Given the description of an element on the screen output the (x, y) to click on. 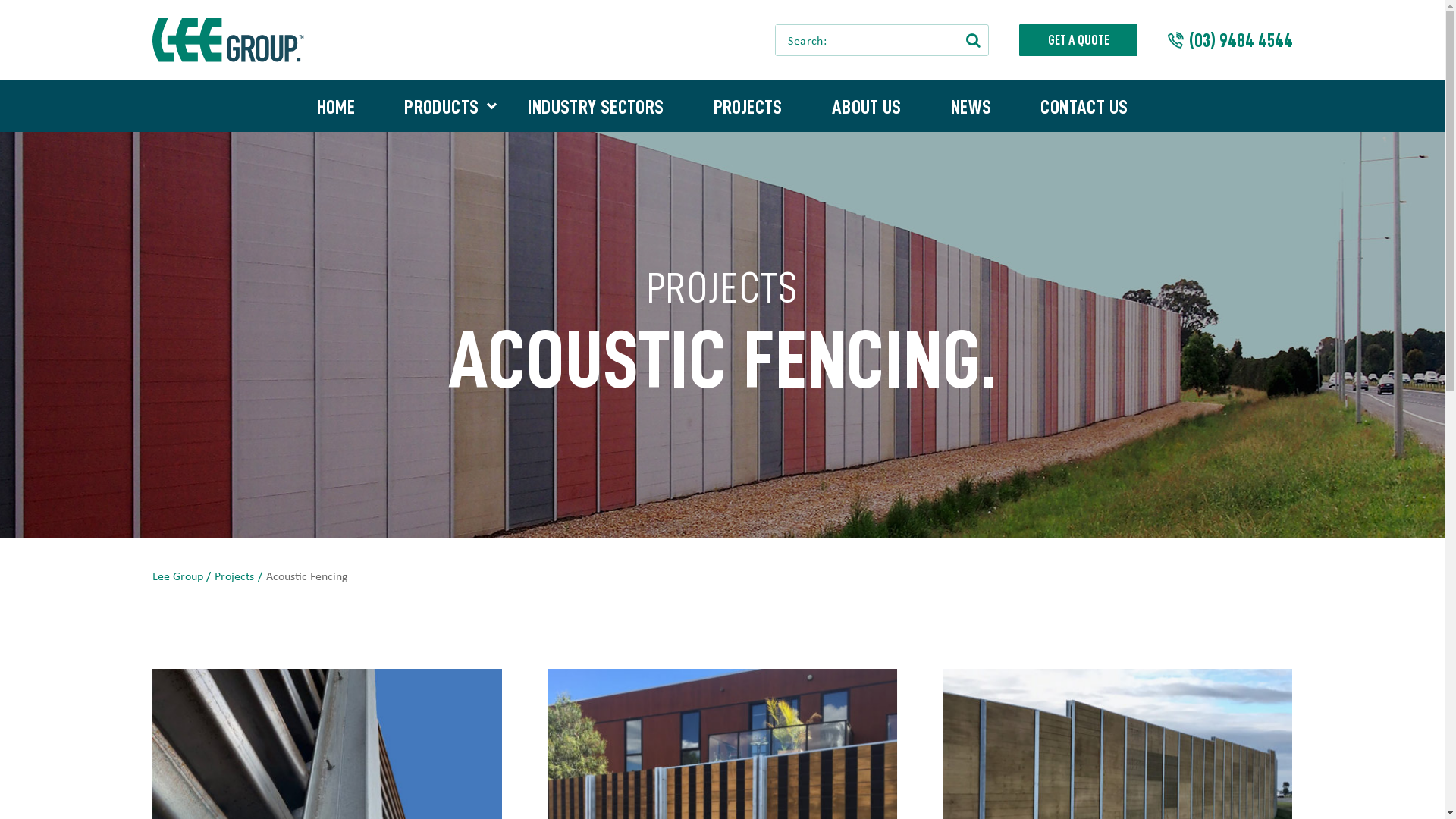
PROJECTS Element type: text (747, 105)
Lee Group Element type: text (182, 575)
NEWS Element type: text (970, 105)
Projects Element type: text (240, 575)
INDUSTRY SECTORS Element type: text (595, 105)
HOME Element type: text (335, 105)
(03) 9484 4544 Element type: text (1229, 39)
ABOUT US Element type: text (865, 105)
PRODUCTS Element type: text (441, 105)
CONTACT US Element type: text (1084, 105)
GET A QUOTE Element type: text (1078, 39)
